Given the description of an element on the screen output the (x, y) to click on. 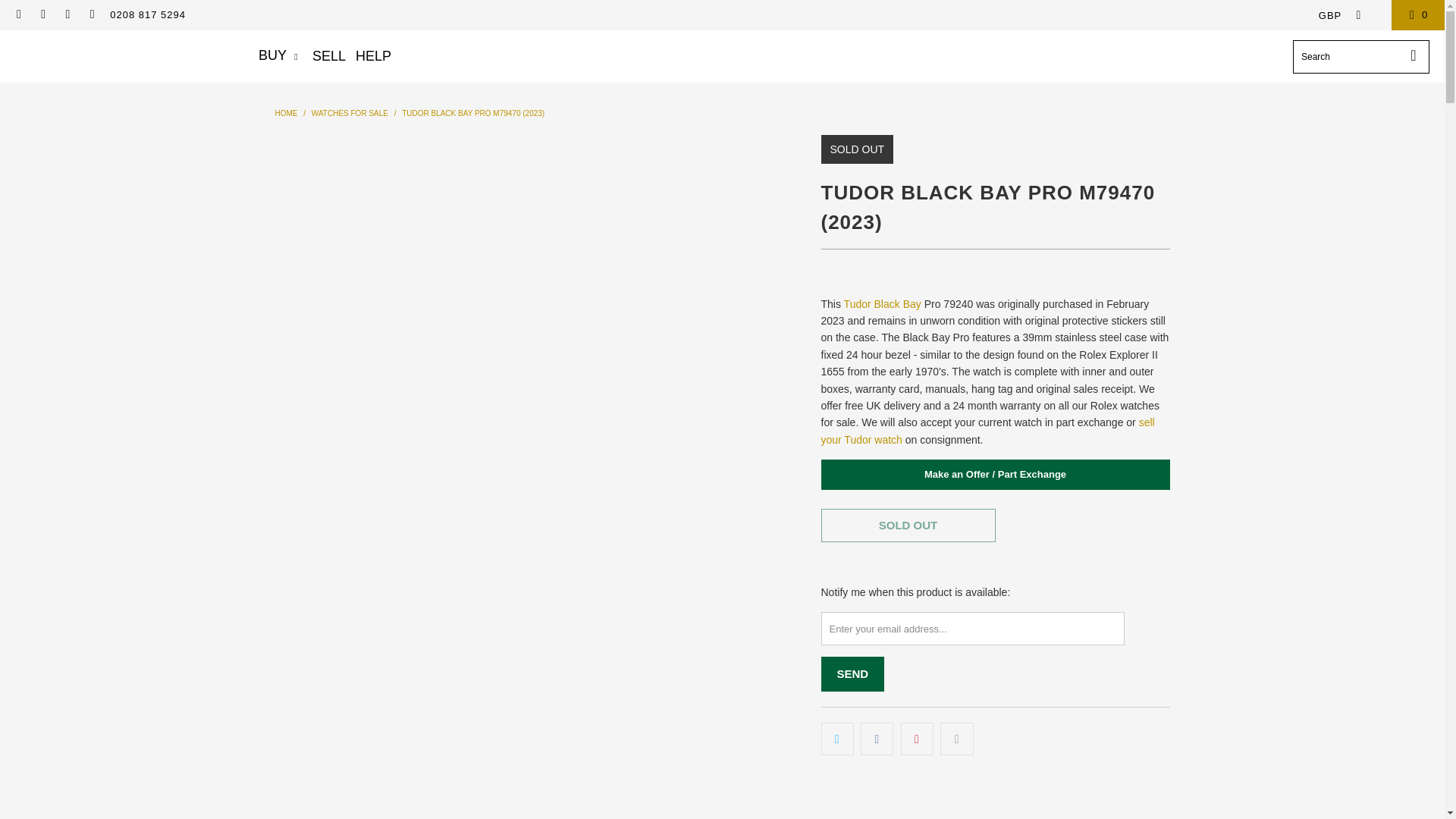
Swiss Watch Trader  (286, 112)
WATCHES FOR SALE (349, 112)
Sell My Tudor Watch (987, 430)
Email Swiss Watch Trader  (17, 14)
Tudor Black Bay (882, 304)
Swiss Watch Trader  on Instagram (67, 14)
Swiss Watch Trader  on Facebook (41, 14)
Send (852, 673)
Swiss Watch Trader  on YouTube (91, 14)
